Given the description of an element on the screen output the (x, y) to click on. 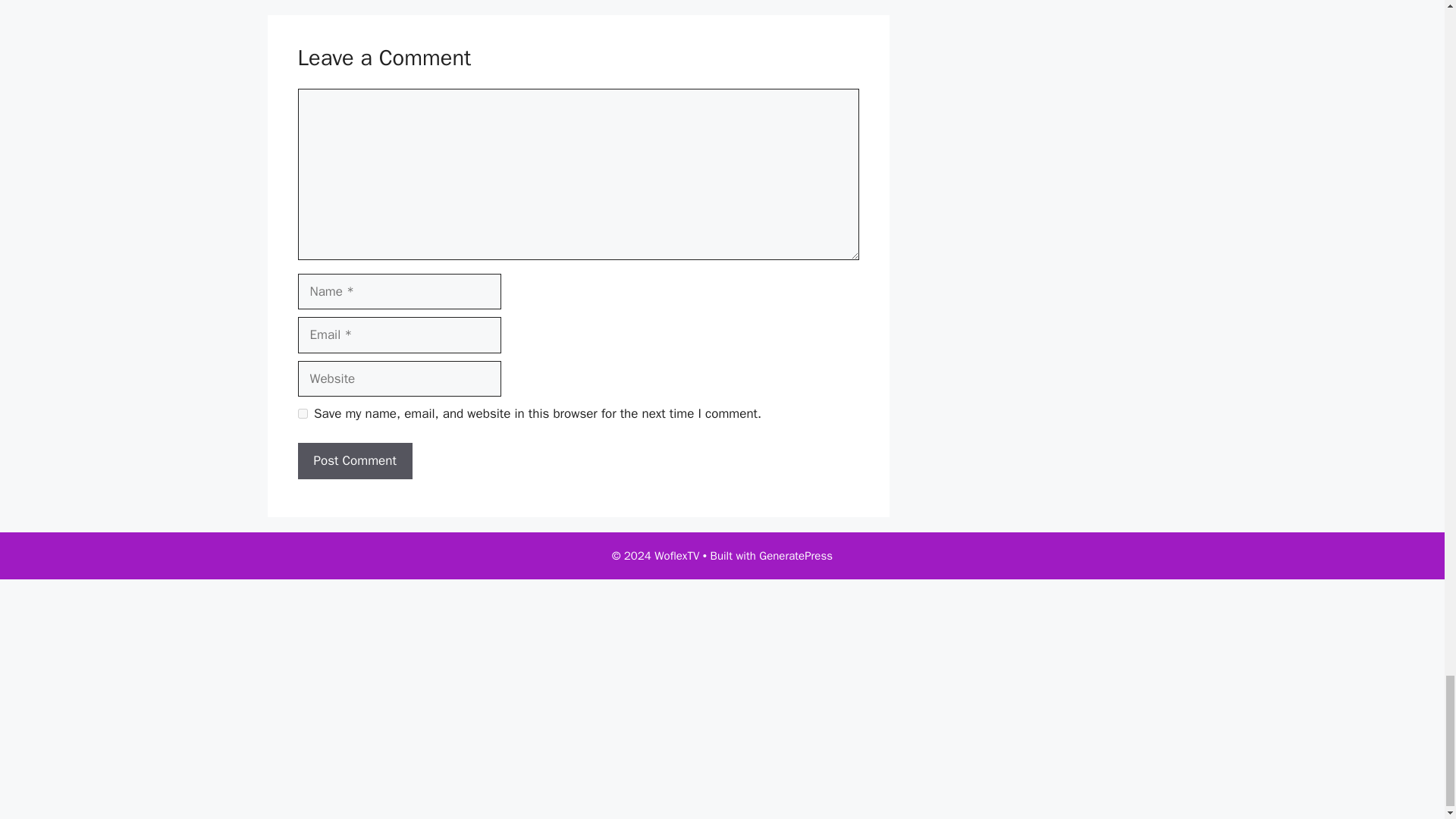
Post Comment (354, 461)
GeneratePress (795, 555)
Post Comment (354, 461)
yes (302, 413)
